Given the description of an element on the screen output the (x, y) to click on. 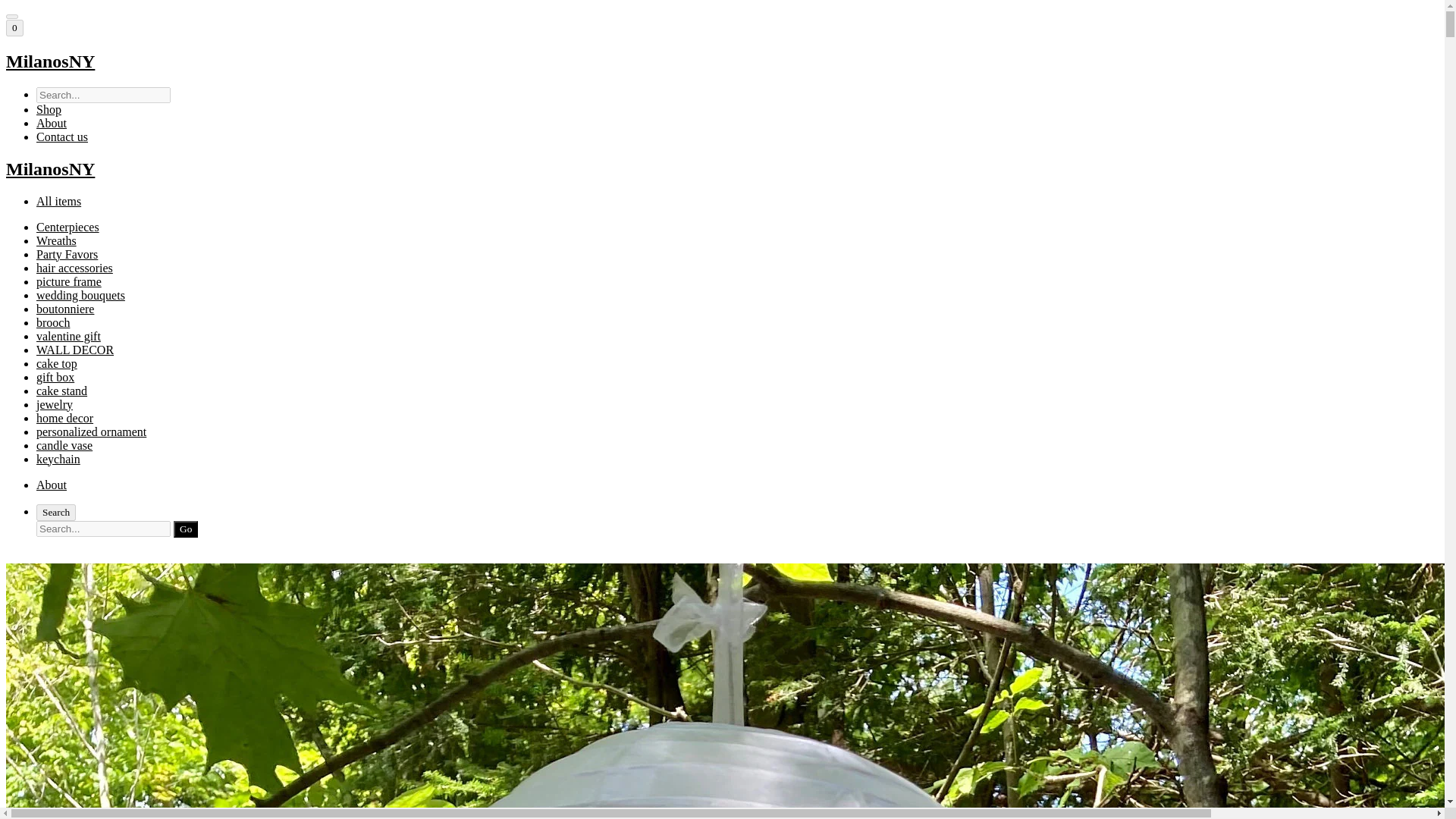
Party Favors (66, 254)
Contact us (61, 136)
cake stand (61, 390)
valentine gift (68, 336)
About (51, 123)
0 (14, 27)
Shop (48, 109)
personalized ornament (91, 431)
MilanosNY (721, 61)
Centerpieces (67, 226)
MilanosNY (721, 168)
Go (185, 528)
cake top (56, 363)
boutonniere (65, 308)
gift box (55, 377)
